Given the description of an element on the screen output the (x, y) to click on. 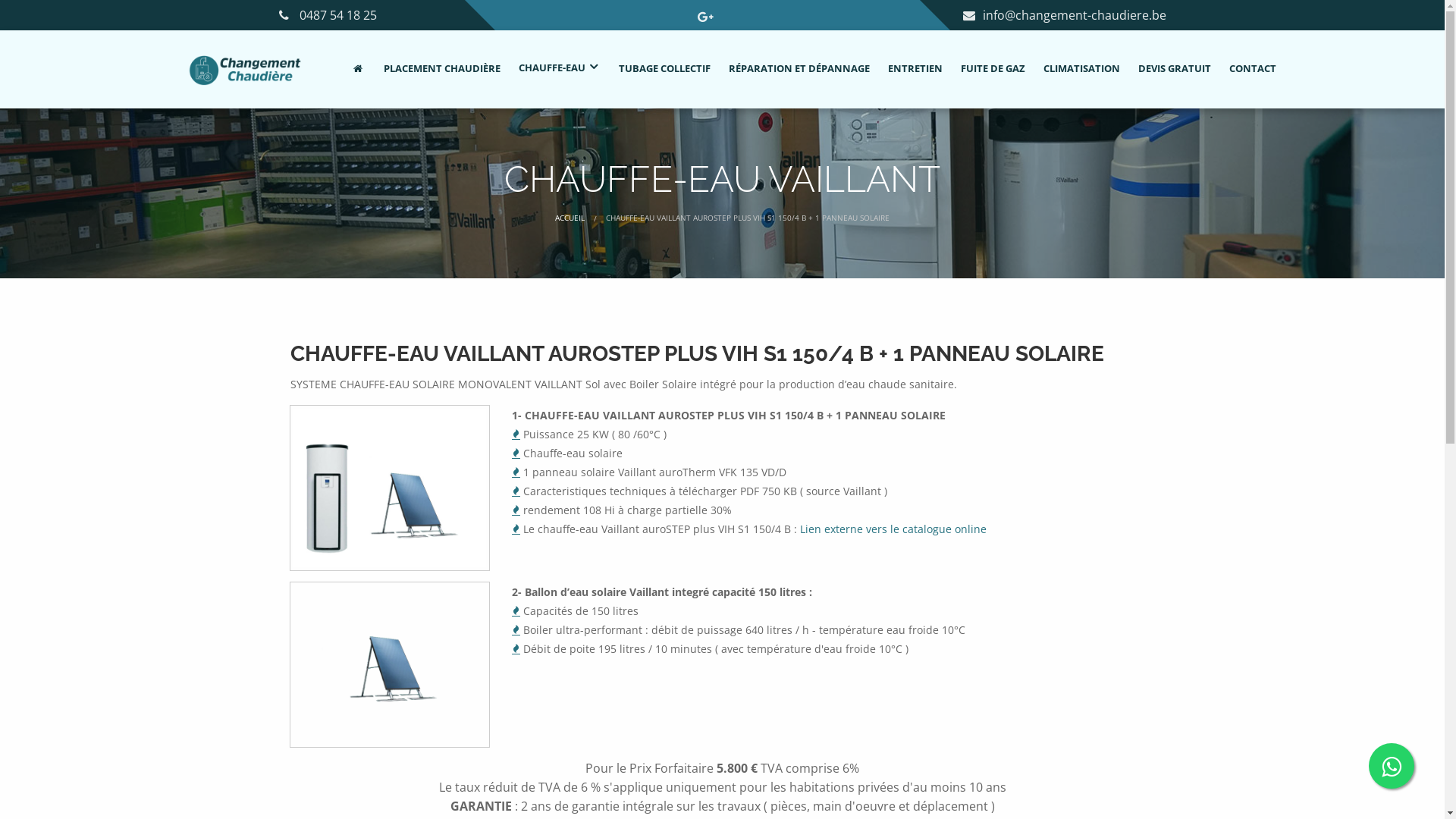
FUITE DE GAZ Element type: text (990, 69)
CONTACT Element type: text (1250, 69)
info@changement-chaudiere.be Element type: text (1064, 15)
CLIMATISATION Element type: text (1079, 69)
Lien externe vers le catalogue online Element type: text (893, 528)
CHAUFFE-EAU Element type: text (558, 69)
ENTRETIEN Element type: text (912, 69)
TUBAGE COLLECTIF Element type: text (663, 69)
0487 54 18 25 Element type: text (337, 15)
DEVIS GRATUIT Element type: text (1171, 69)
ACCUEIL Element type: text (569, 217)
